Given the description of an element on the screen output the (x, y) to click on. 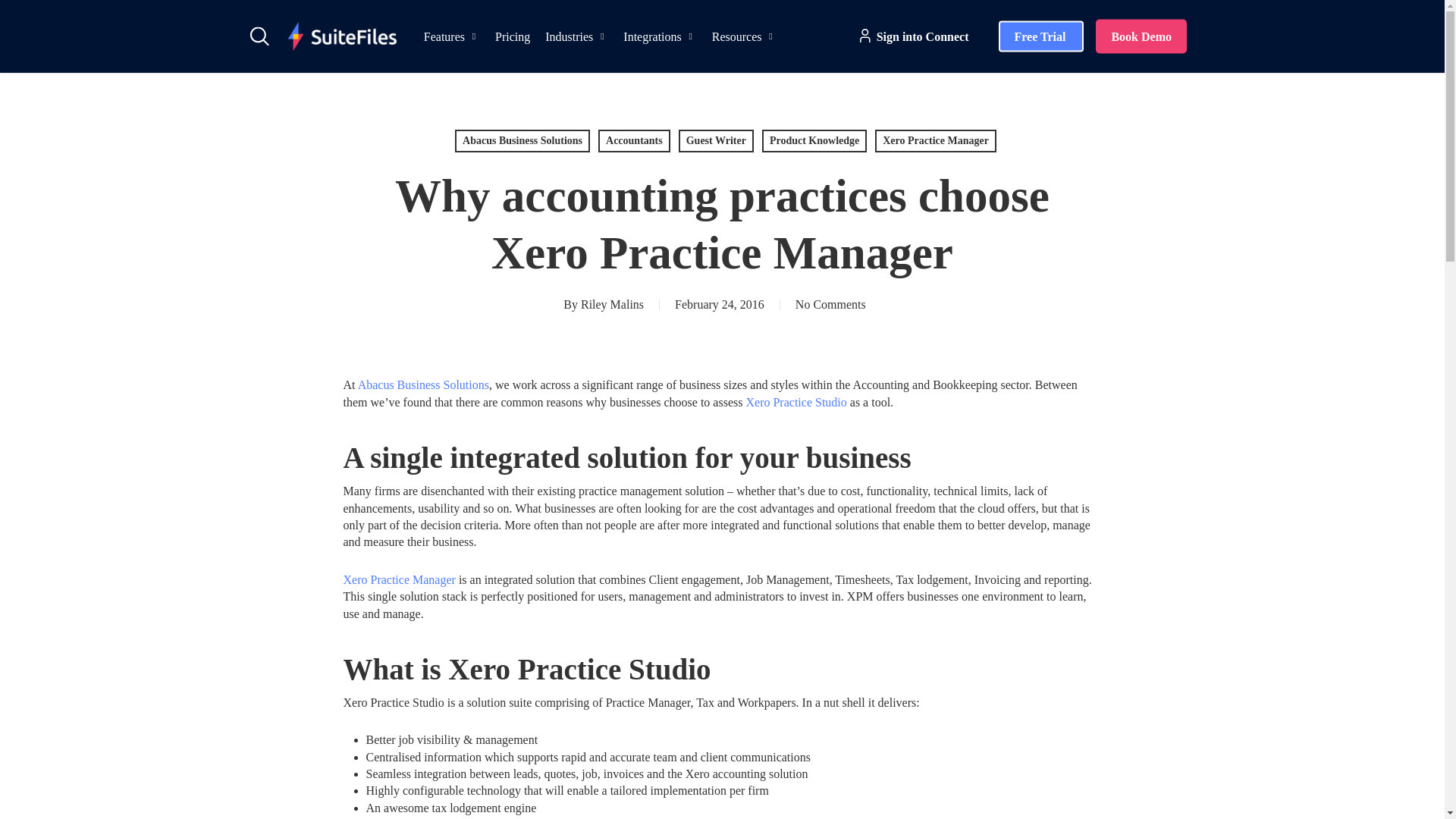
Posts by Riley Malins (611, 304)
Industries (576, 36)
Pricing (512, 36)
Integrations (659, 36)
Resources (744, 36)
Features (451, 36)
